Given the description of an element on the screen output the (x, y) to click on. 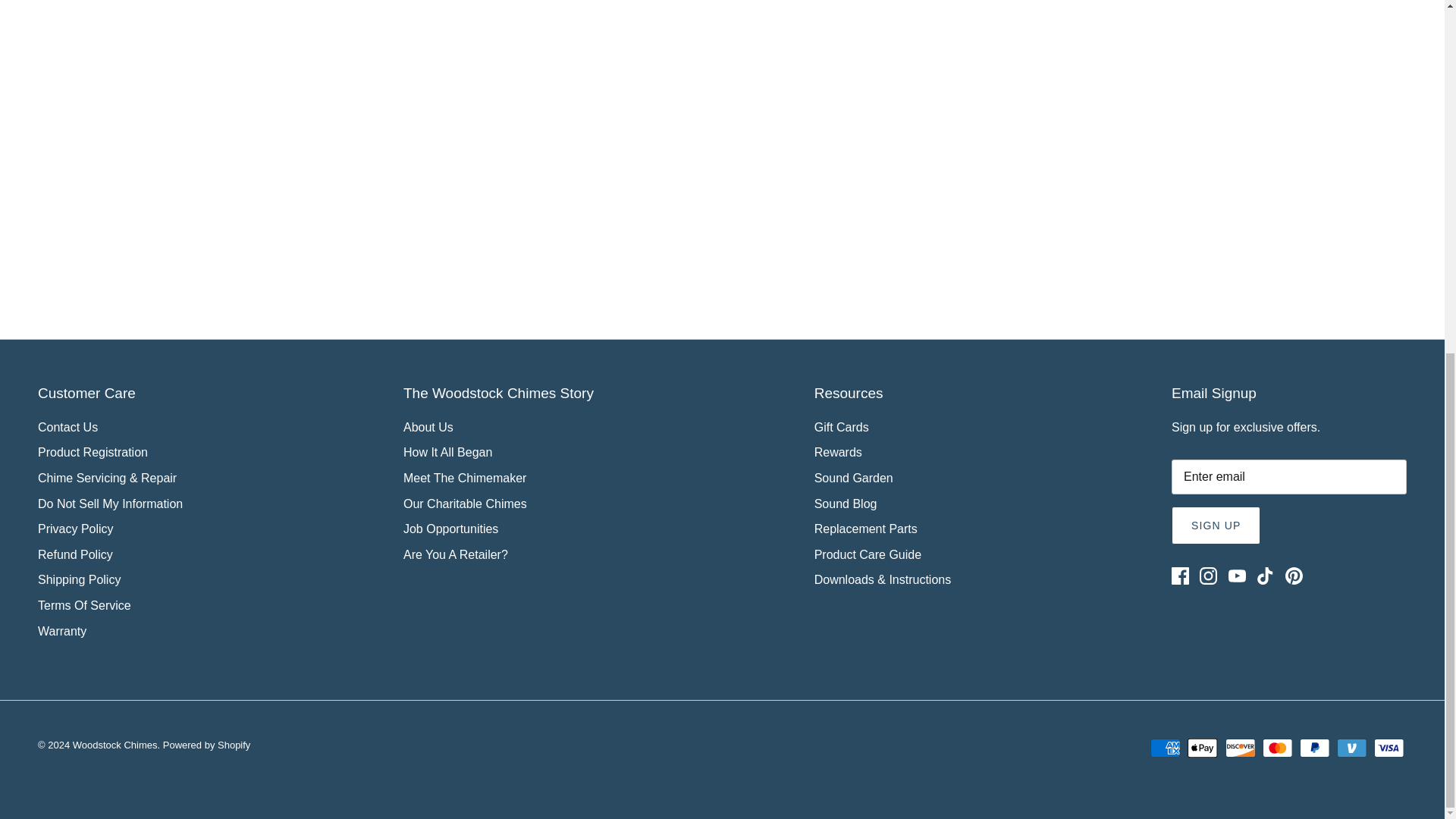
Discover (1240, 747)
Visa (1388, 747)
Apple Pay (1202, 747)
PayPal (1314, 747)
Facebook (1180, 575)
American Express (1165, 747)
Instagram (1208, 575)
Youtube (1237, 575)
Venmo (1351, 747)
Pinterest (1294, 575)
